Given the description of an element on the screen output the (x, y) to click on. 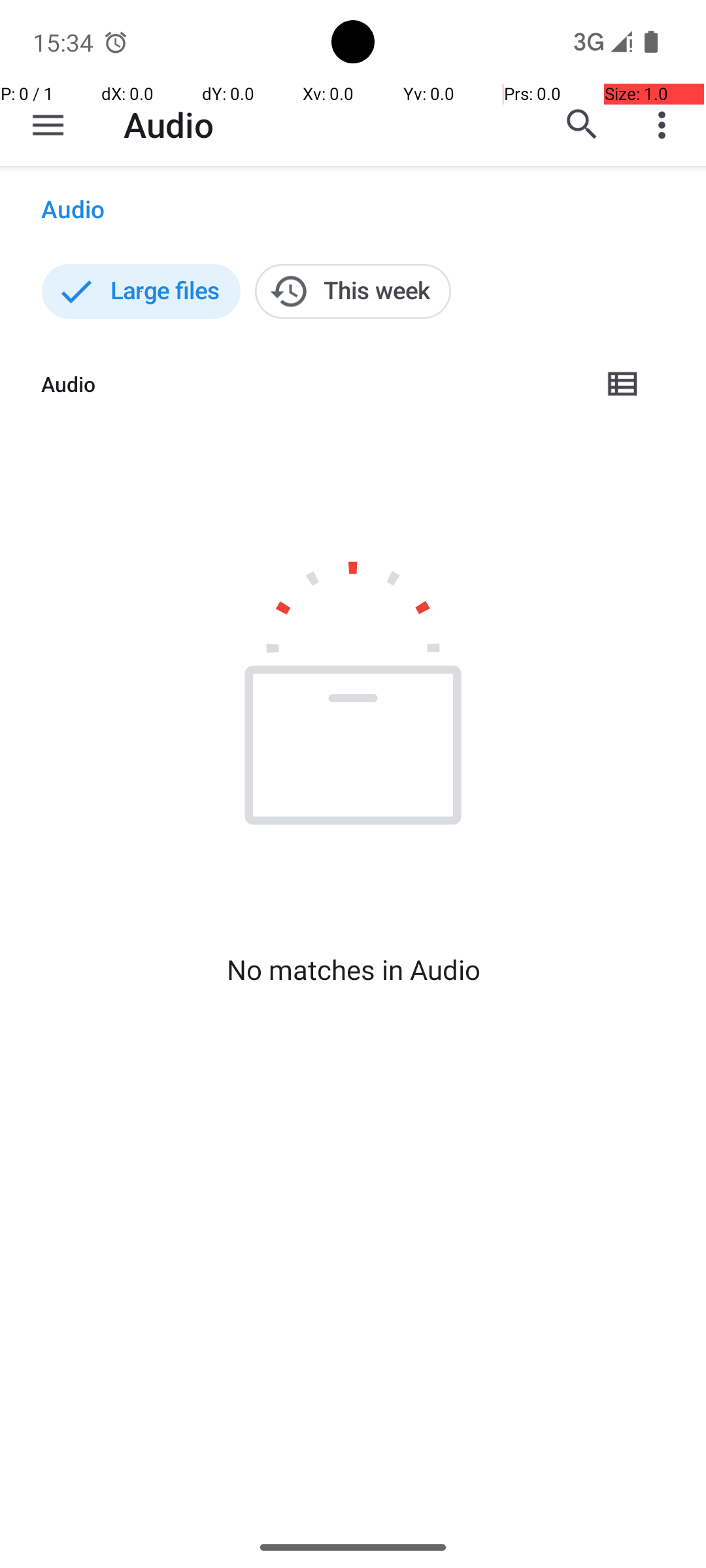
No matches in Audio Element type: android.widget.TextView (352, 968)
